Given the description of an element on the screen output the (x, y) to click on. 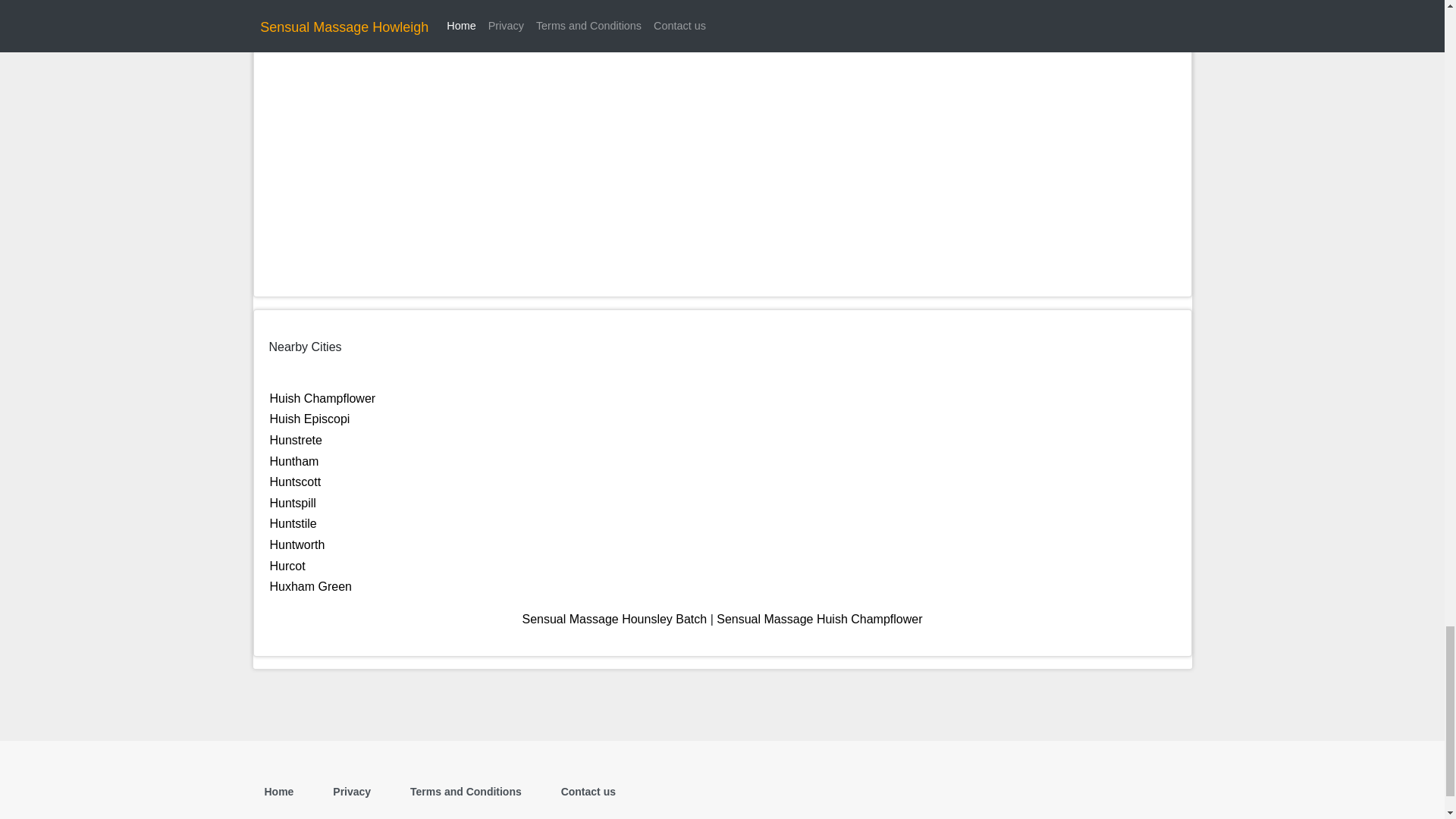
Huish Champflower (322, 398)
Huntstile (293, 522)
Huxham Green (310, 585)
Hunstrete (295, 440)
Huntworth (296, 544)
Sensual Massage Huish Champflower (818, 618)
Sensual Massage Hounsley Batch (613, 618)
Huish Episcopi (309, 418)
Huntscott (295, 481)
Hurcot (287, 565)
Huntham (293, 461)
Huntspill (292, 502)
